Given the description of an element on the screen output the (x, y) to click on. 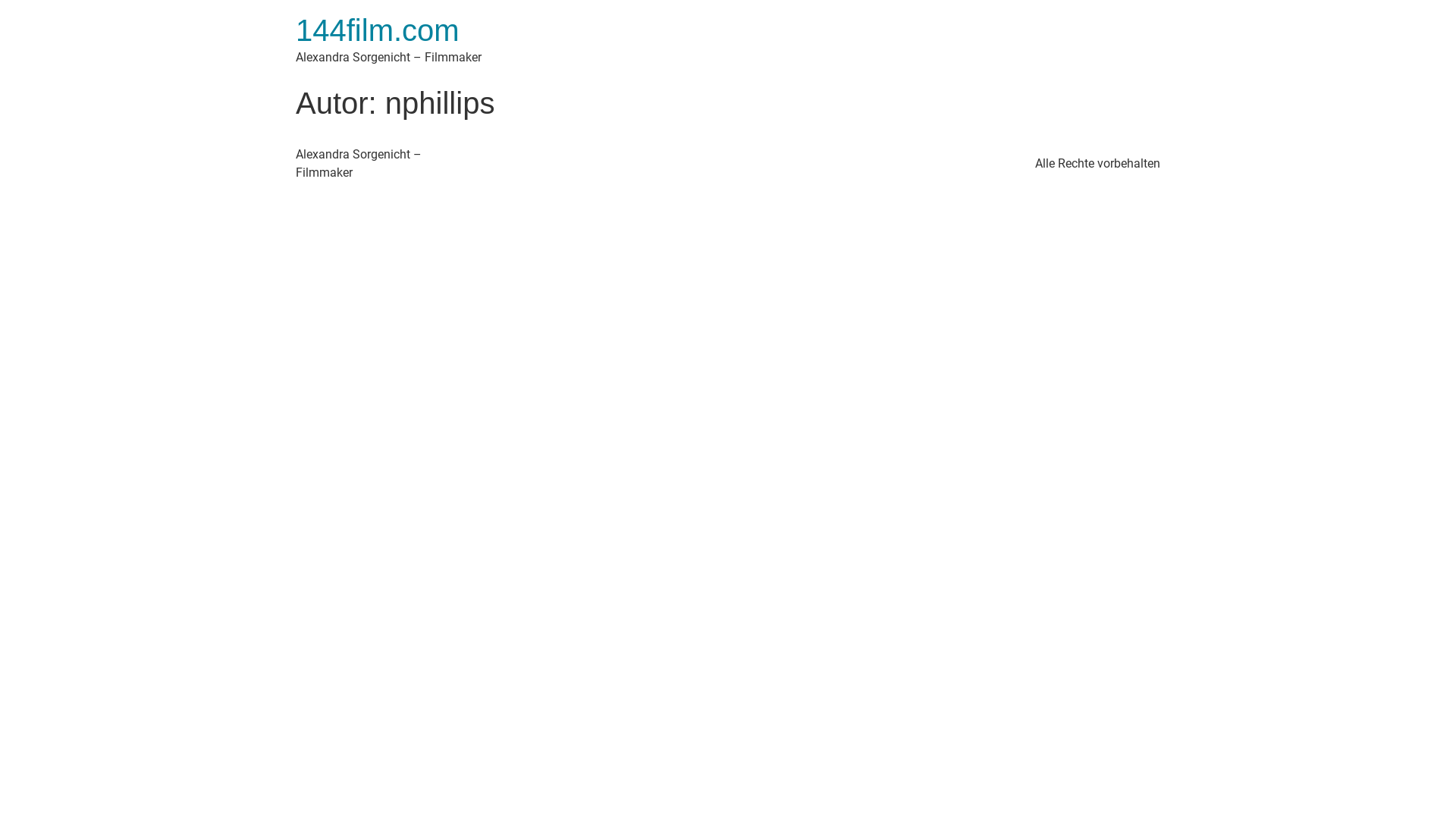
144film.com Element type: text (377, 30)
